Given the description of an element on the screen output the (x, y) to click on. 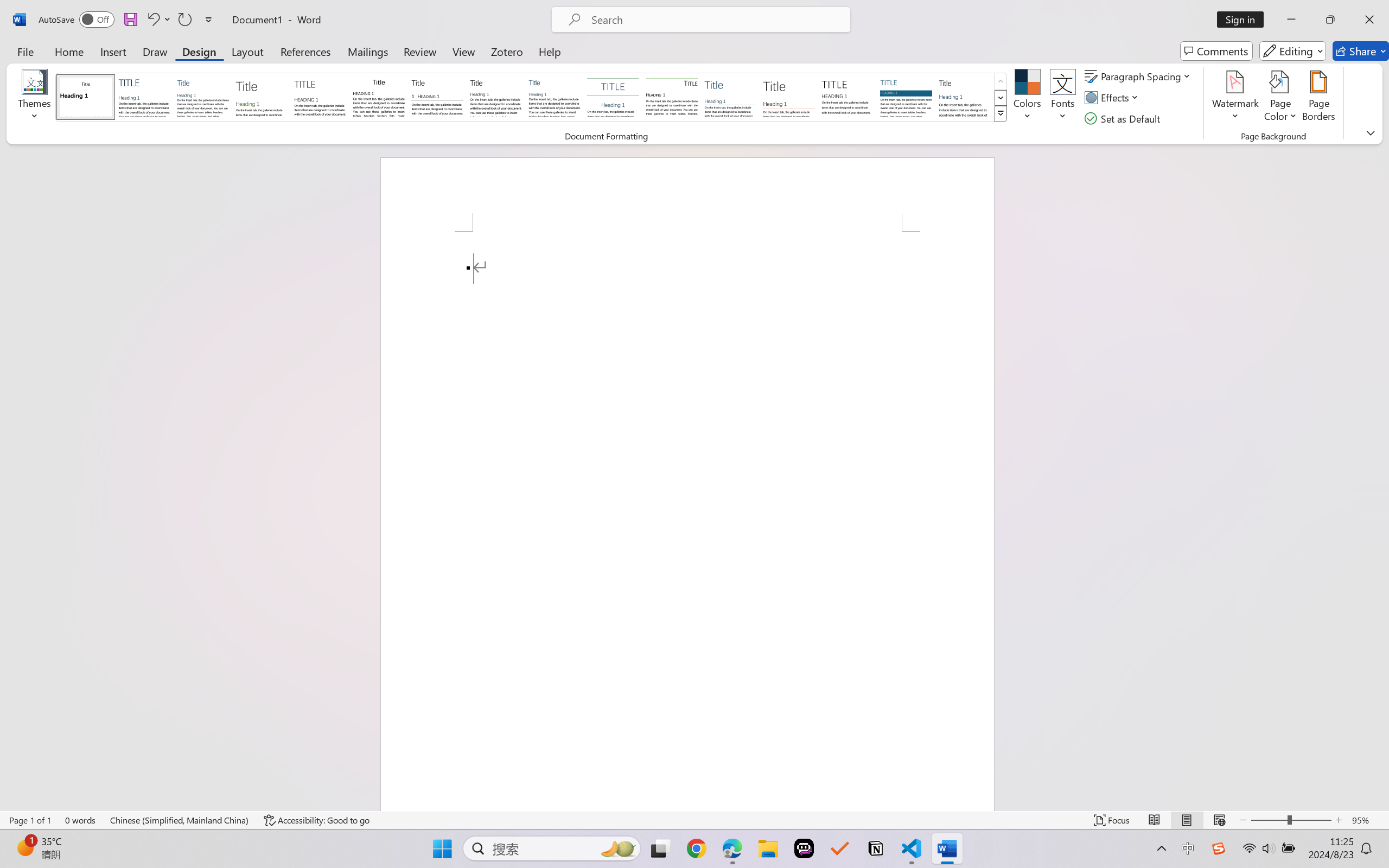
Basic (Stylish) (260, 96)
Basic (Elegant) (144, 96)
Black & White (Word 2013) (495, 96)
Page Color (1280, 97)
Themes (34, 97)
